Given the description of an element on the screen output the (x, y) to click on. 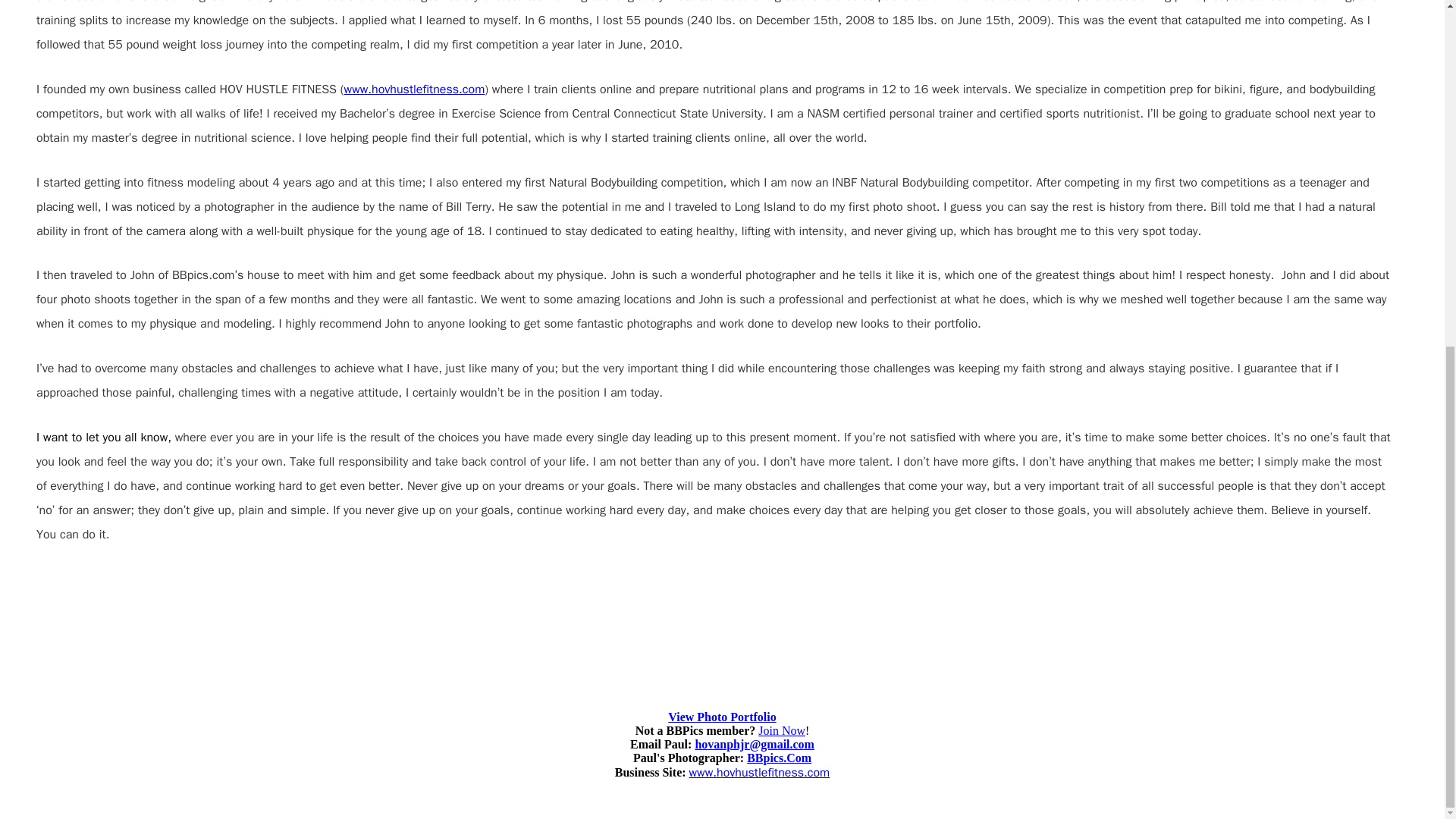
Join Now (781, 731)
www.hovhustlefitness.com (413, 88)
www.hovhustlefitness.com (758, 771)
View Photo Portfolio (722, 715)
BBpics.Com (778, 757)
